Given the description of an element on the screen output the (x, y) to click on. 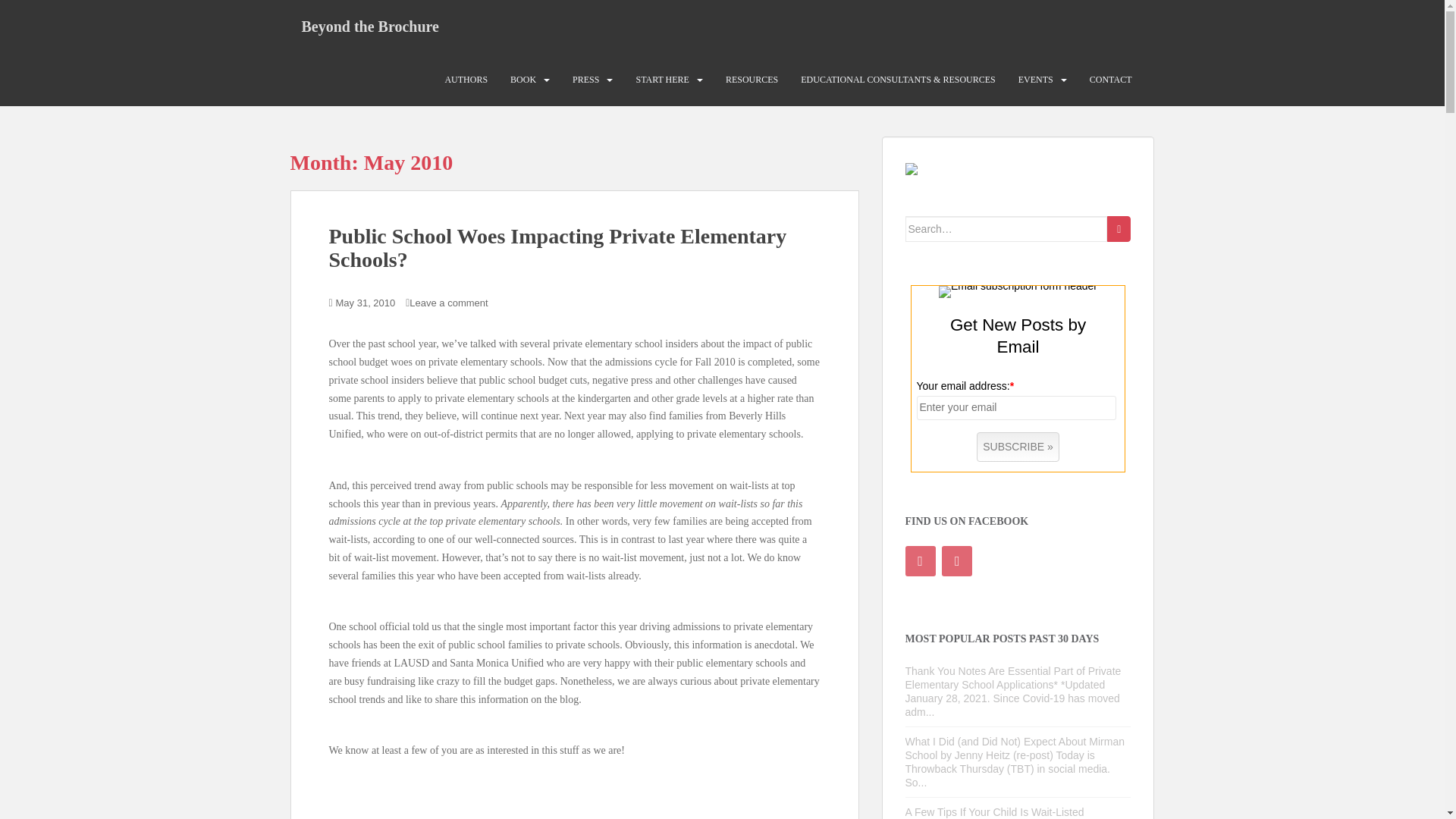
Enter your email (1015, 407)
click to join (1017, 447)
CONTACT (1110, 79)
Beyond the Brochure (369, 26)
May 31, 2010 (366, 302)
Search for: (1006, 228)
Beyond the Brochure (369, 26)
RESOURCES (751, 79)
AUTHORS (465, 79)
START HERE (661, 79)
